Given the description of an element on the screen output the (x, y) to click on. 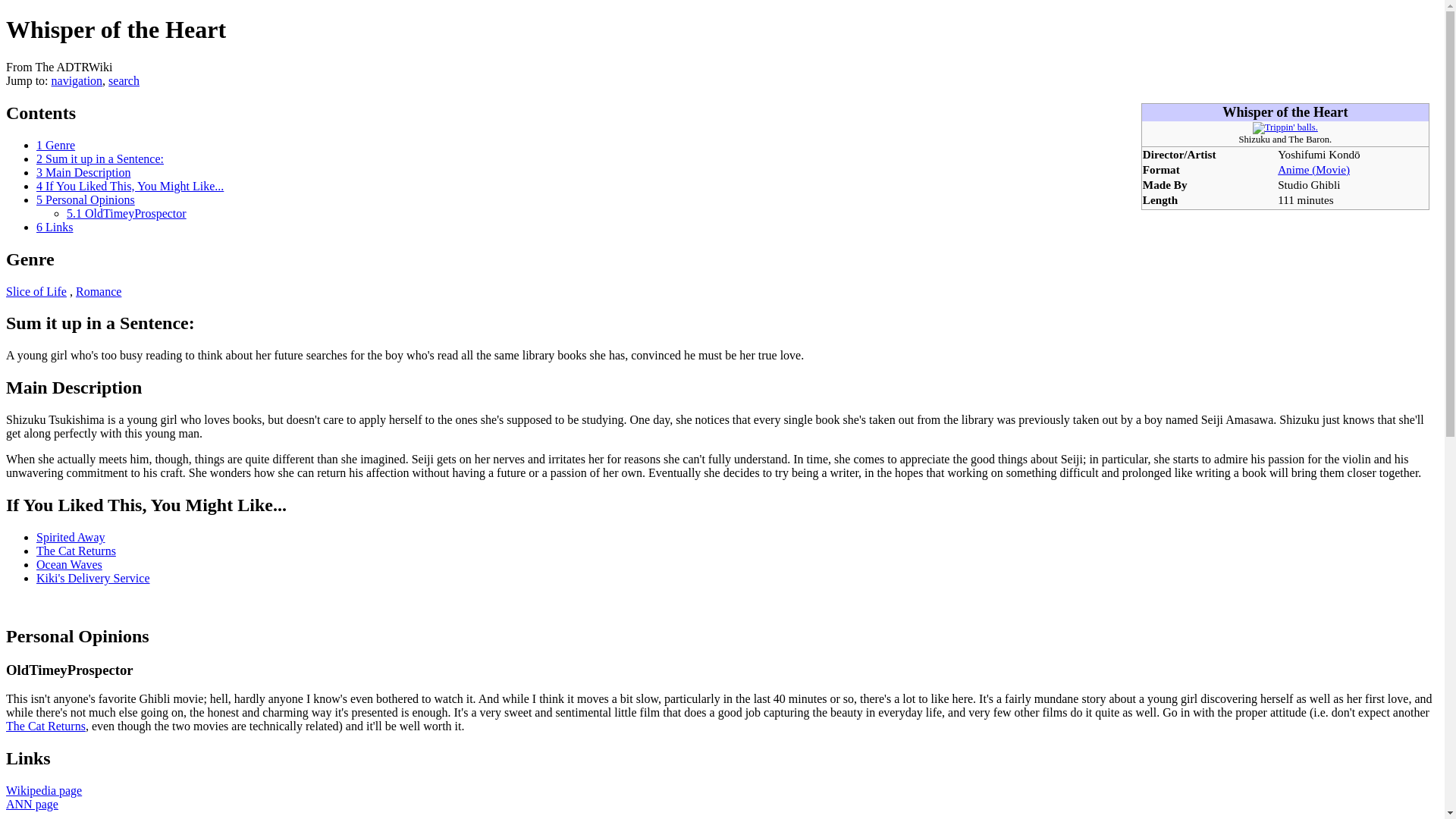
4 If You Liked This, You Might Like... (130, 185)
Category:Romance (97, 291)
Slice of Life (35, 291)
Category:Slice of Life (35, 291)
Spirited Away (70, 536)
search (123, 80)
ANN page (31, 803)
1 Genre (55, 144)
Spirited Away (70, 536)
Kiki's Delivery Service (92, 577)
5 Personal Opinions (85, 199)
Kiki's Delivery Service (92, 577)
Ocean Waves (68, 563)
Trippin' balls. (1284, 127)
Romance (97, 291)
